Given the description of an element on the screen output the (x, y) to click on. 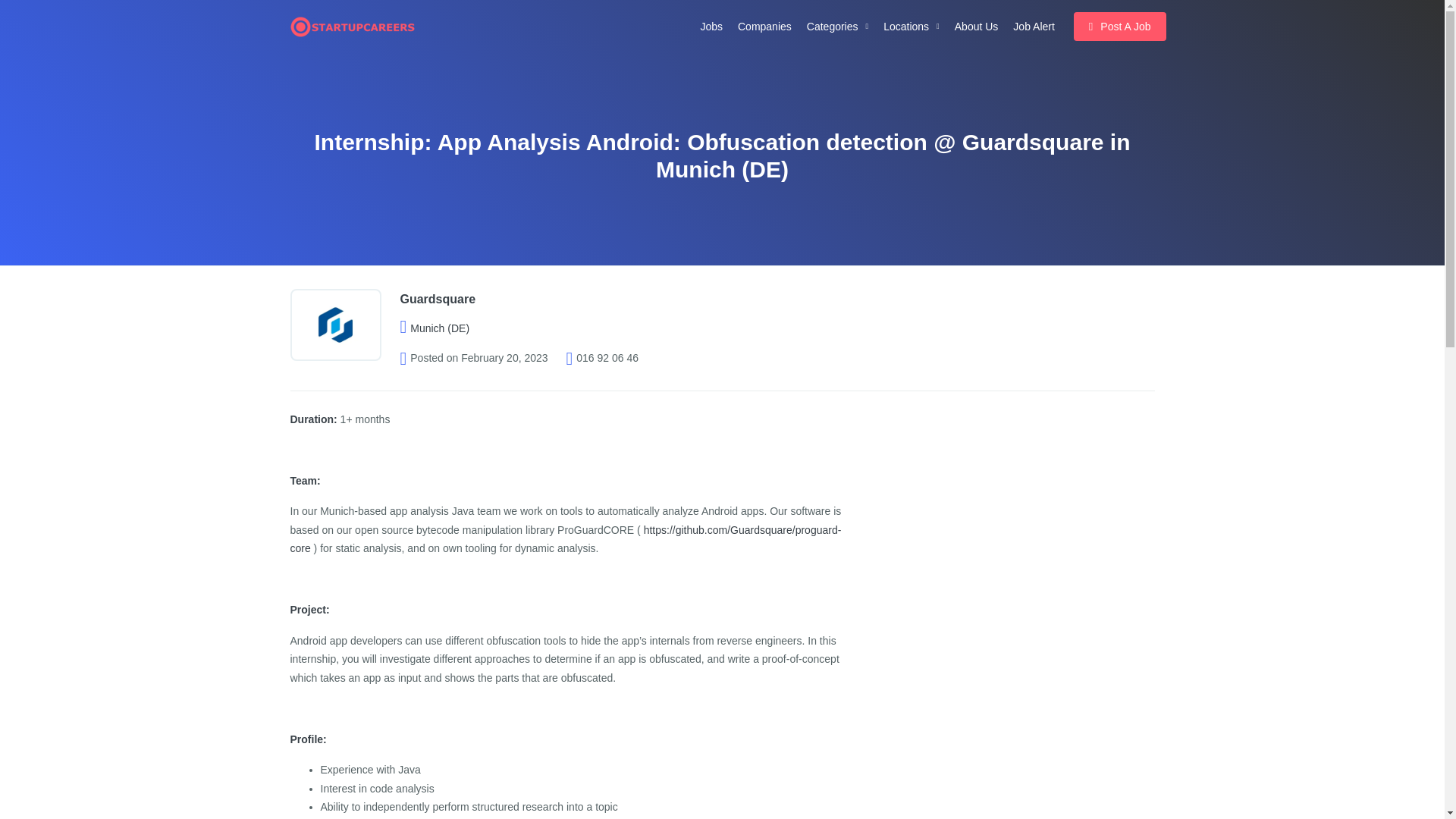
Locations (911, 26)
Jobs (711, 26)
Job Alert (1033, 26)
Categories (837, 26)
Companies (764, 26)
About Us (976, 26)
Post A Job (1120, 26)
Guardsquare (438, 298)
